Given the description of an element on the screen output the (x, y) to click on. 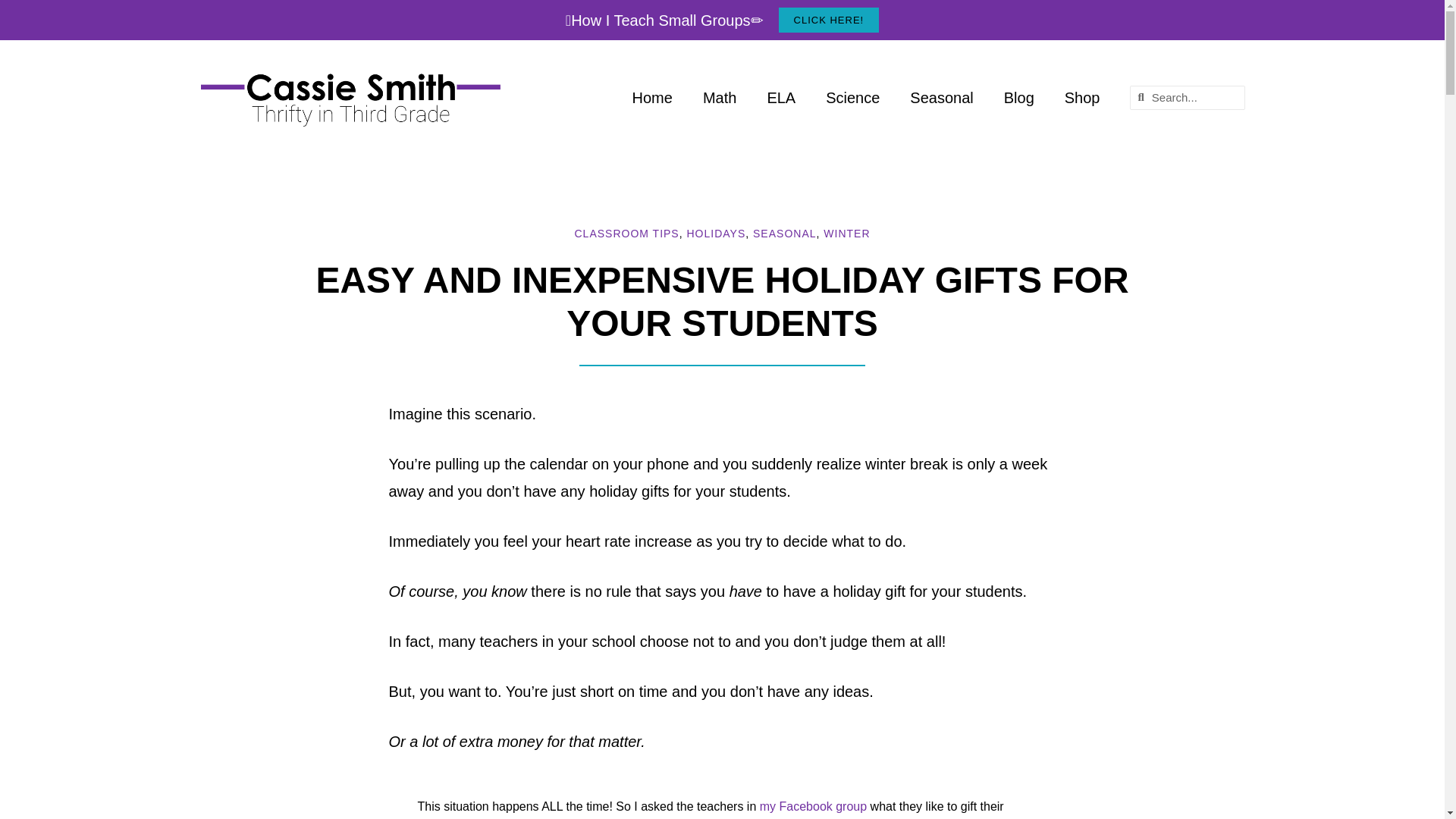
Seasonal (941, 97)
Shop (1082, 97)
Home (652, 97)
Math (719, 97)
Science (852, 97)
CLICK HERE! (828, 19)
ELA (780, 97)
Blog (1018, 97)
